Given the description of an element on the screen output the (x, y) to click on. 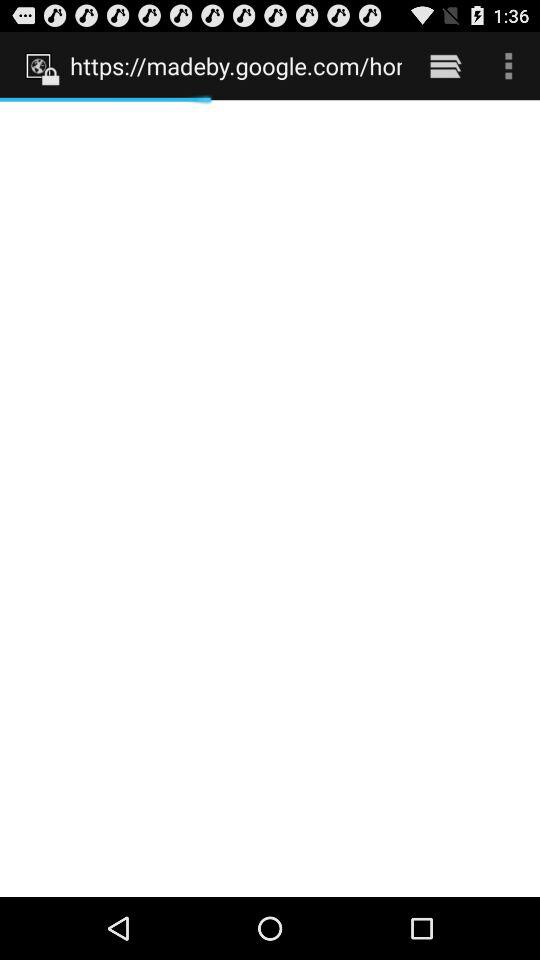
select the https madeby google (235, 65)
